Given the description of an element on the screen output the (x, y) to click on. 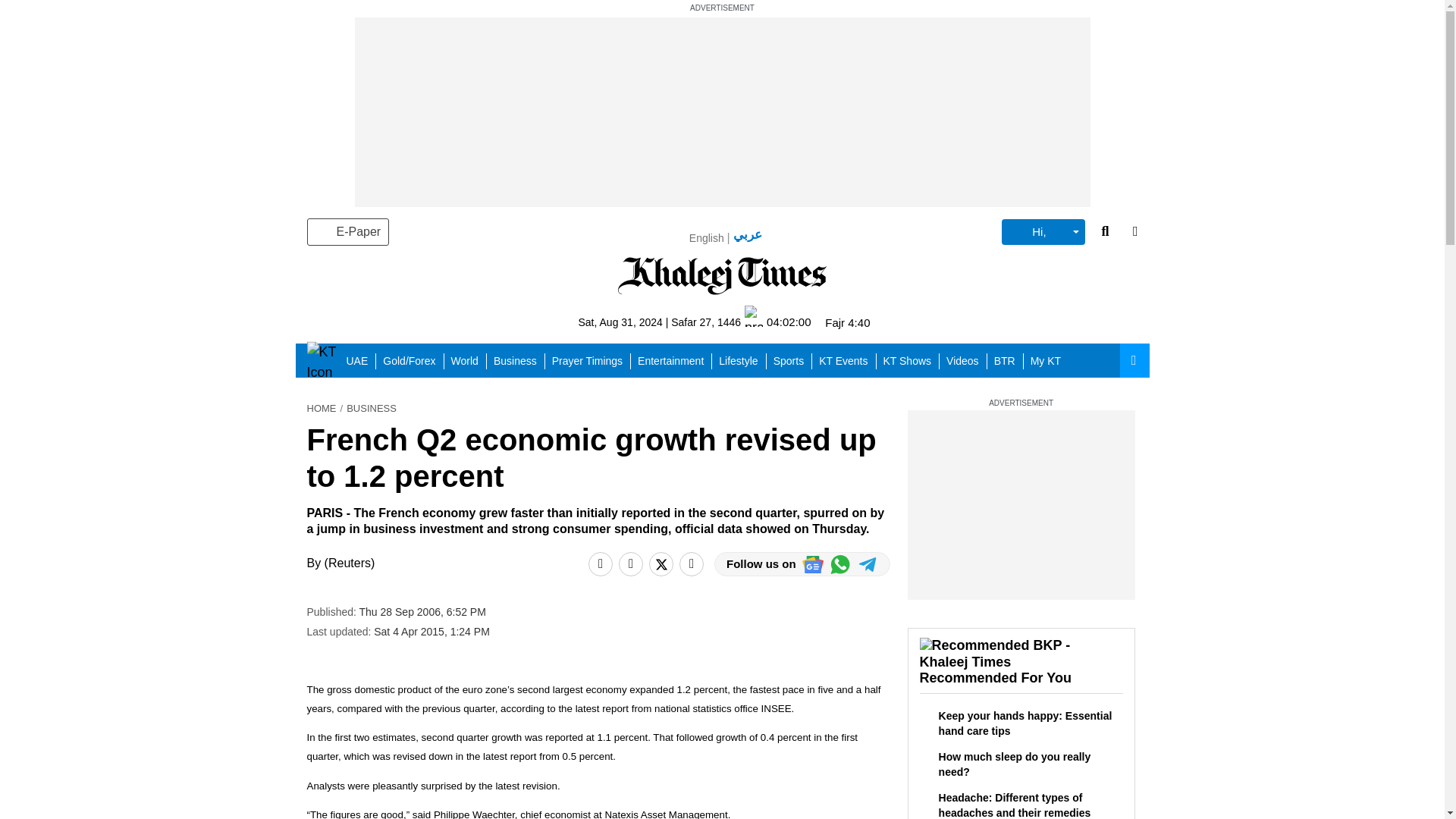
Fajr 4:40 (847, 322)
04:02:00 (777, 321)
E-Paper (346, 231)
Hi, (1042, 232)
